Given the description of an element on the screen output the (x, y) to click on. 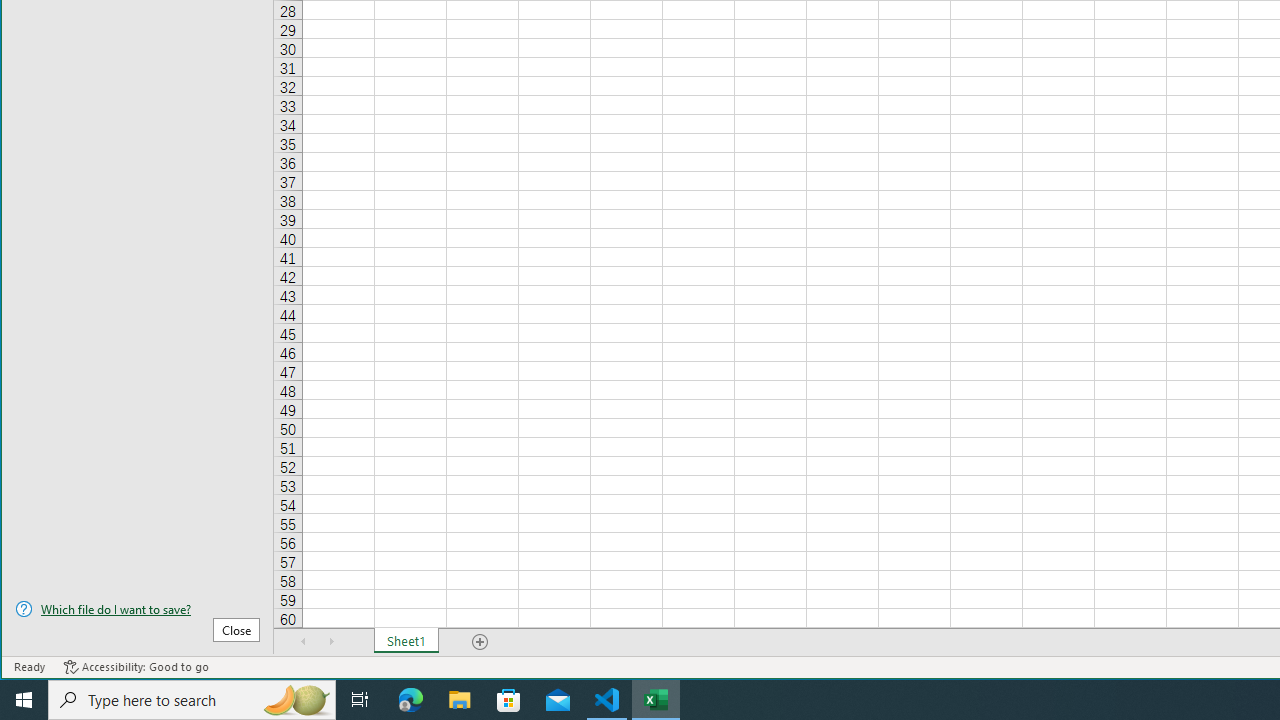
Search highlights icon opens search home window (295, 699)
Type here to search (191, 699)
